Given the description of an element on the screen output the (x, y) to click on. 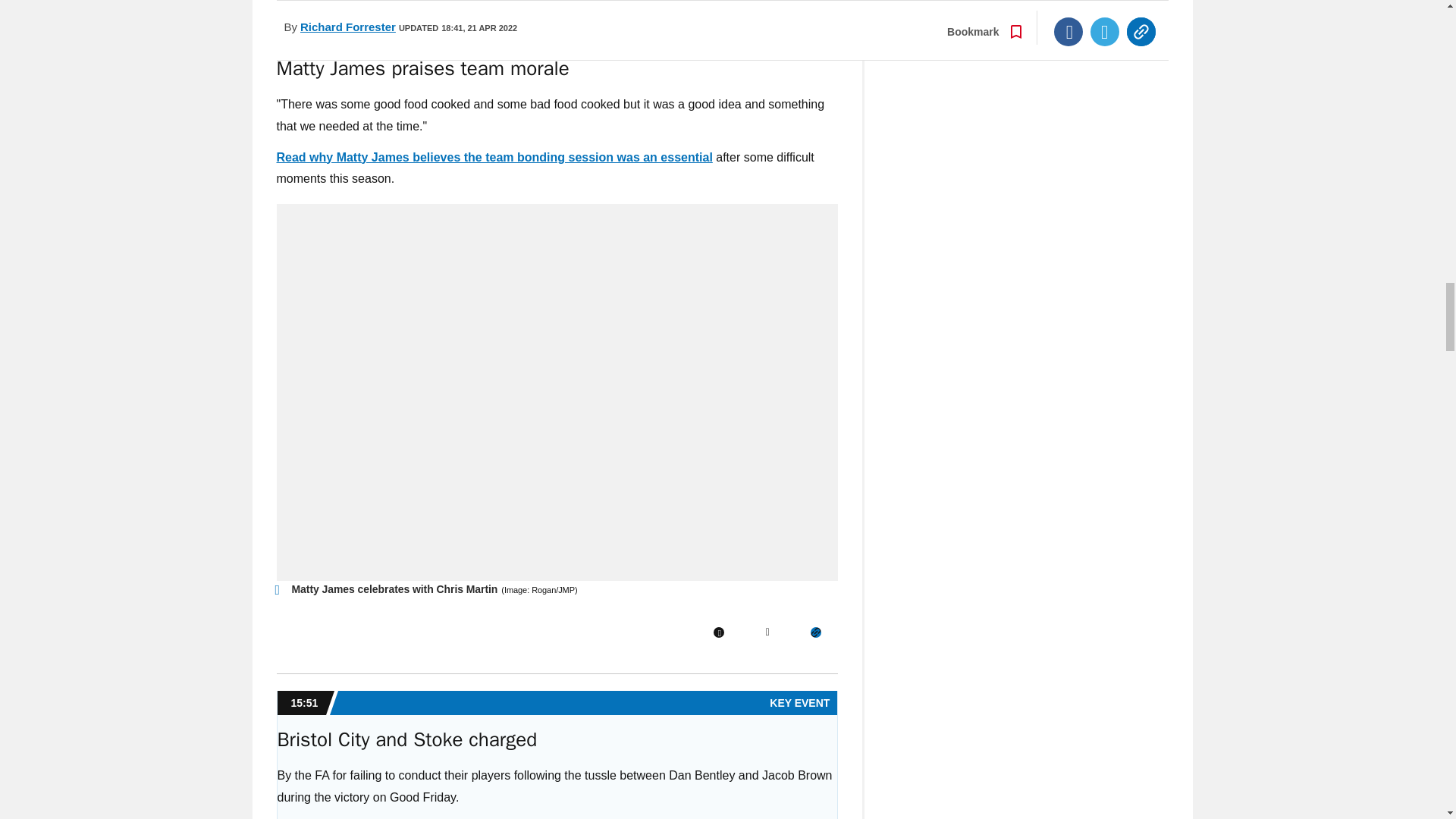
Twitter (767, 632)
Facebook (718, 632)
